Given the description of an element on the screen output the (x, y) to click on. 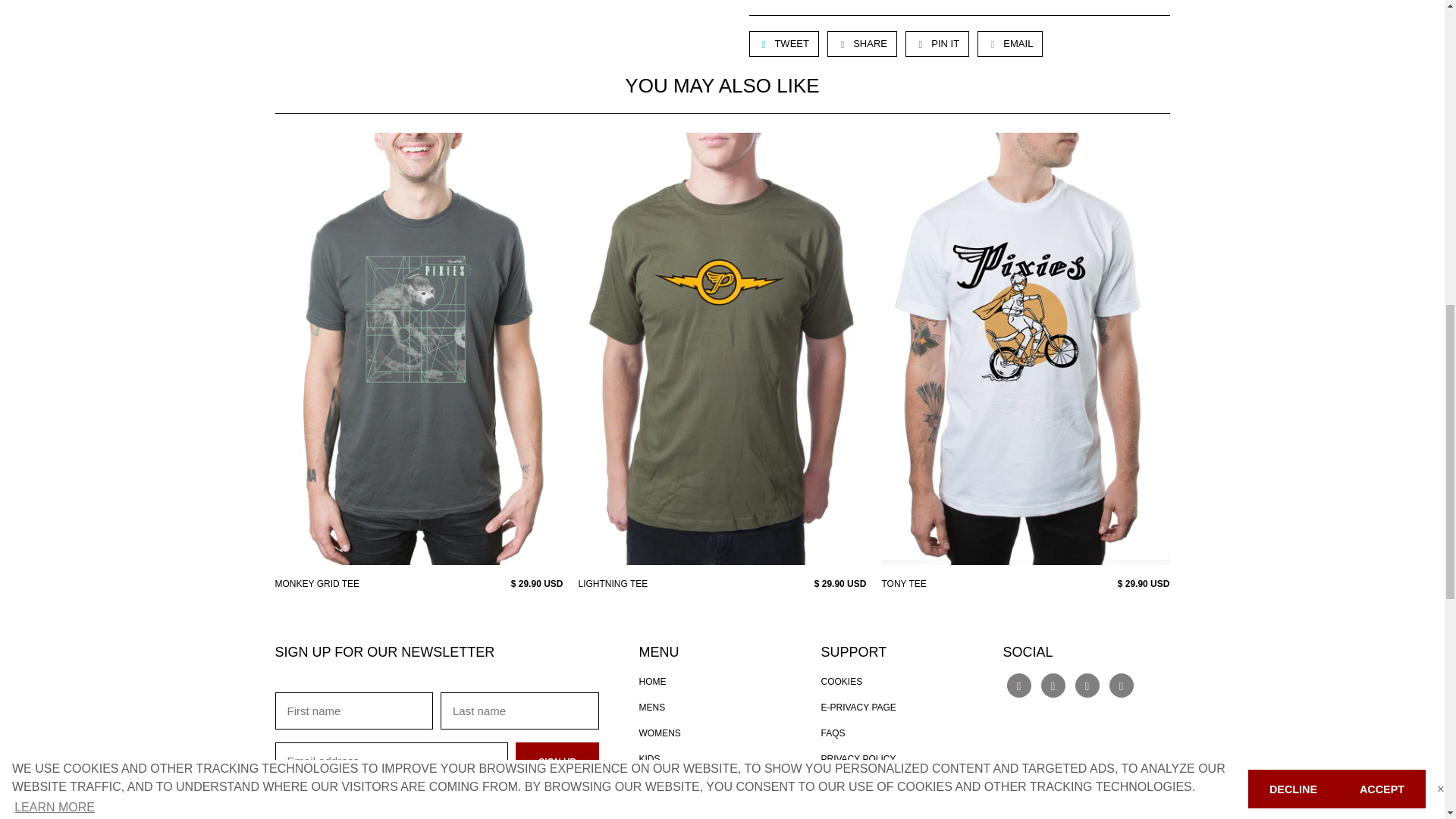
Pixies Official Store on Facebook (1052, 685)
Sign Up (556, 761)
Share this on Facebook (861, 43)
Pixies Official Store on Twitter (1018, 685)
Share this on Twitter (783, 43)
Share this on Pinterest (937, 43)
Email this to a friend (1009, 43)
